Given the description of an element on the screen output the (x, y) to click on. 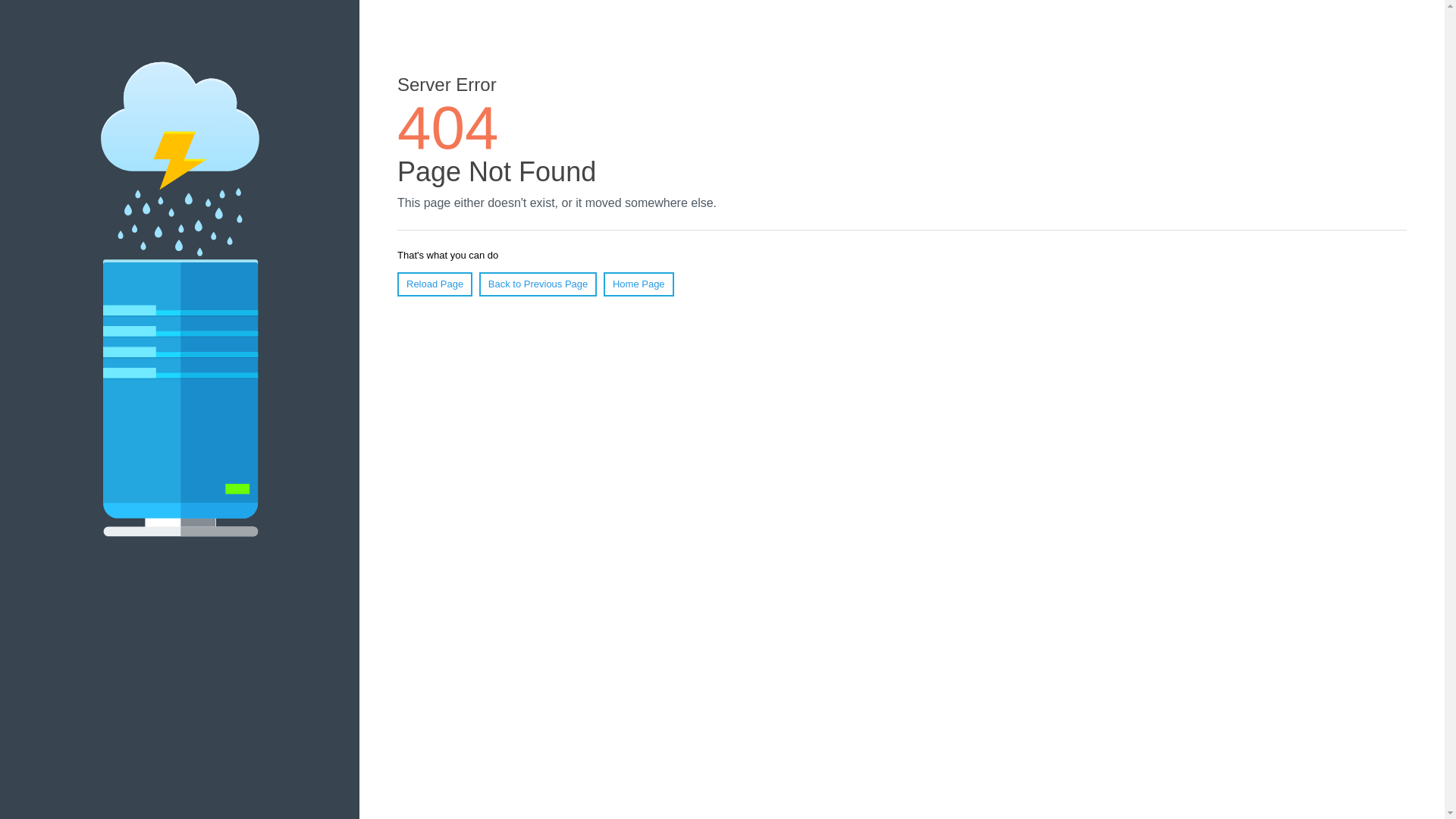
Reload Page Element type: text (434, 284)
Back to Previous Page Element type: text (538, 284)
Home Page Element type: text (638, 284)
